Given the description of an element on the screen output the (x, y) to click on. 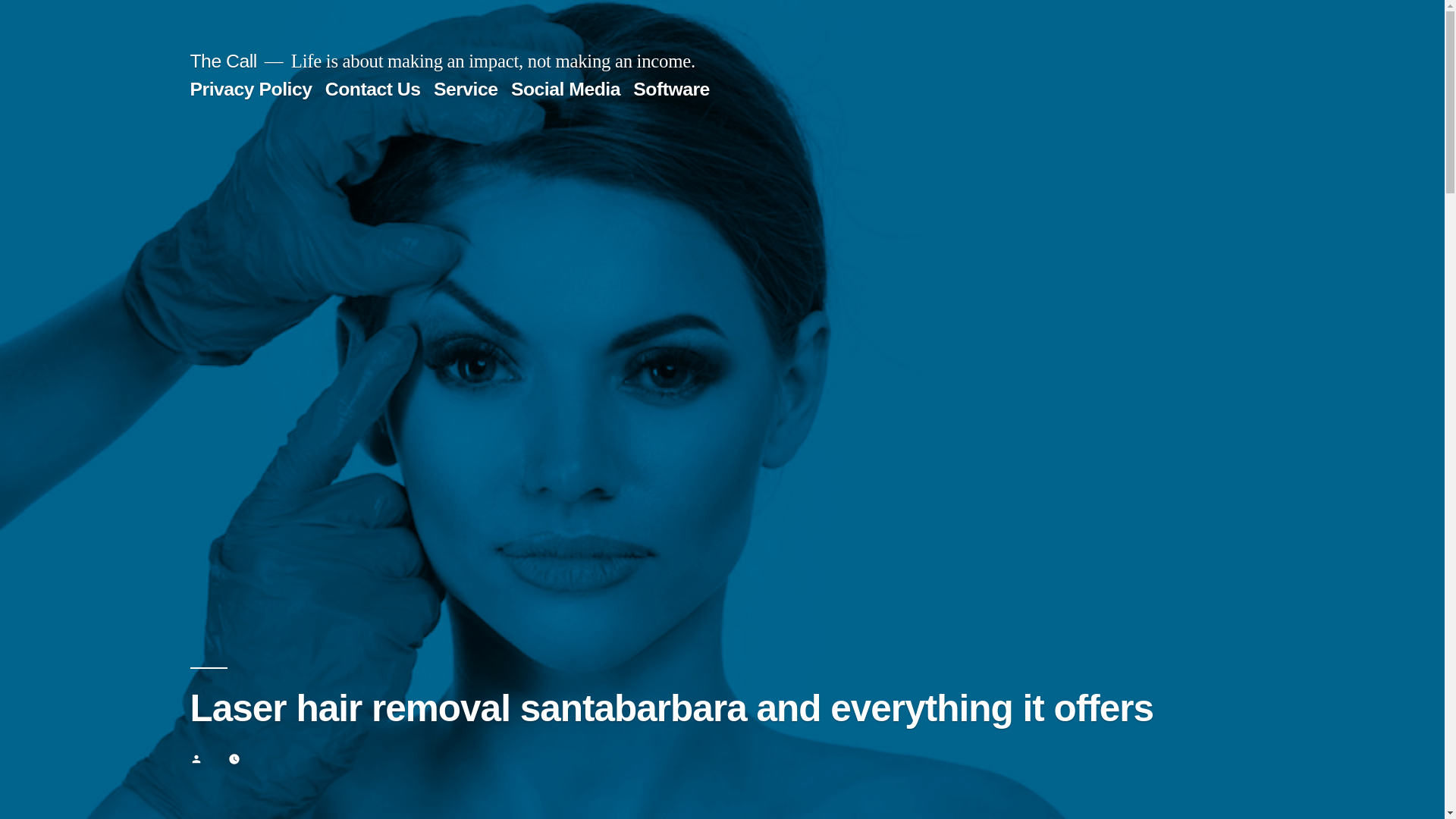
Service (465, 88)
The Call (222, 60)
Social Media (565, 88)
Software (671, 88)
Privacy Policy (250, 88)
Contact Us (372, 88)
